Given the description of an element on the screen output the (x, y) to click on. 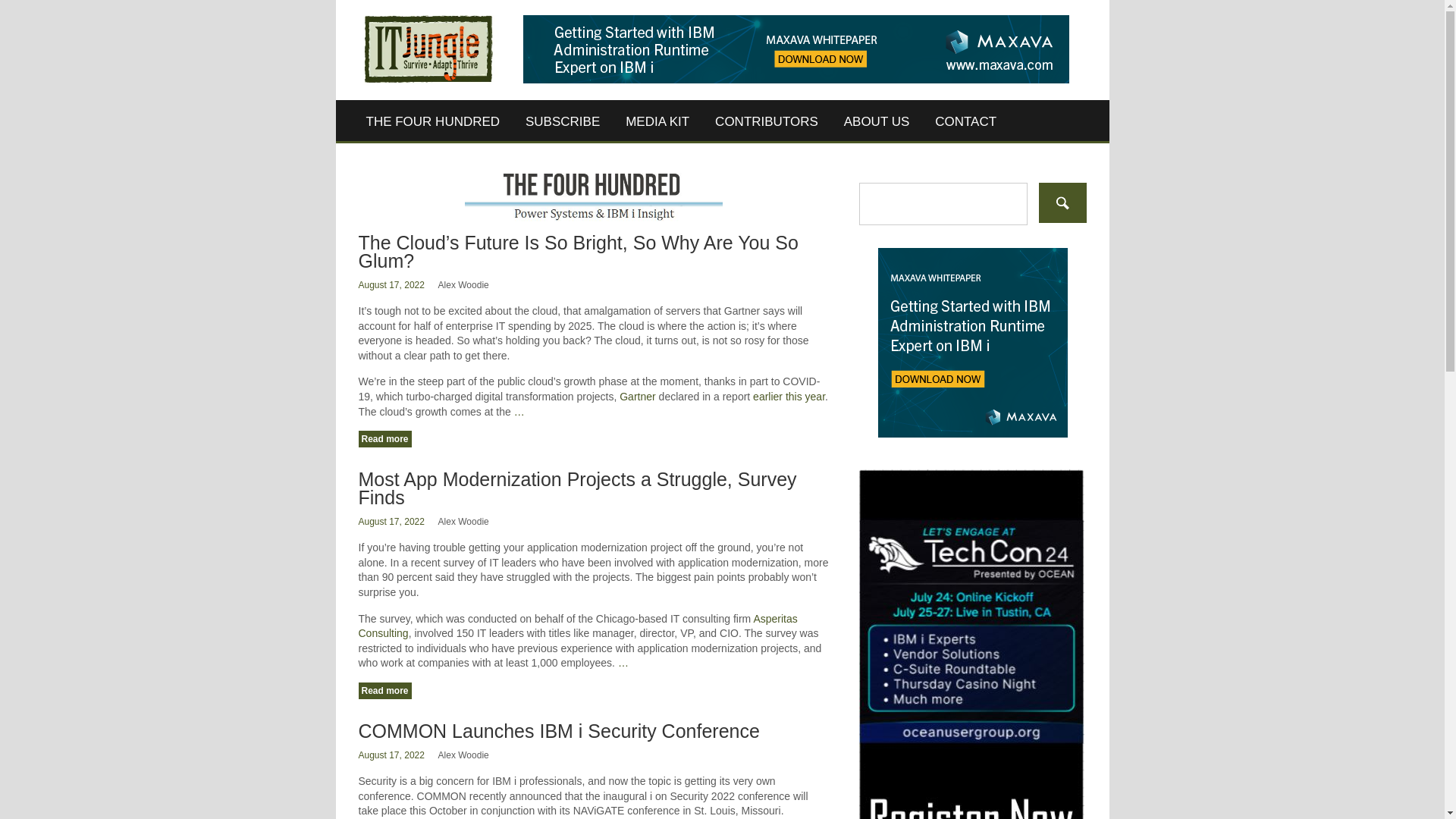
SUBSCRIBE (562, 121)
Posts by Alex Woodie (463, 521)
Gartner (637, 396)
CONTACT (965, 121)
CONTRIBUTORS (766, 121)
MEDIA KIT (657, 121)
Alex Woodie (463, 285)
earlier this year (788, 396)
Asperitas Consulting (577, 625)
Alex Woodie (463, 755)
